Given the description of an element on the screen output the (x, y) to click on. 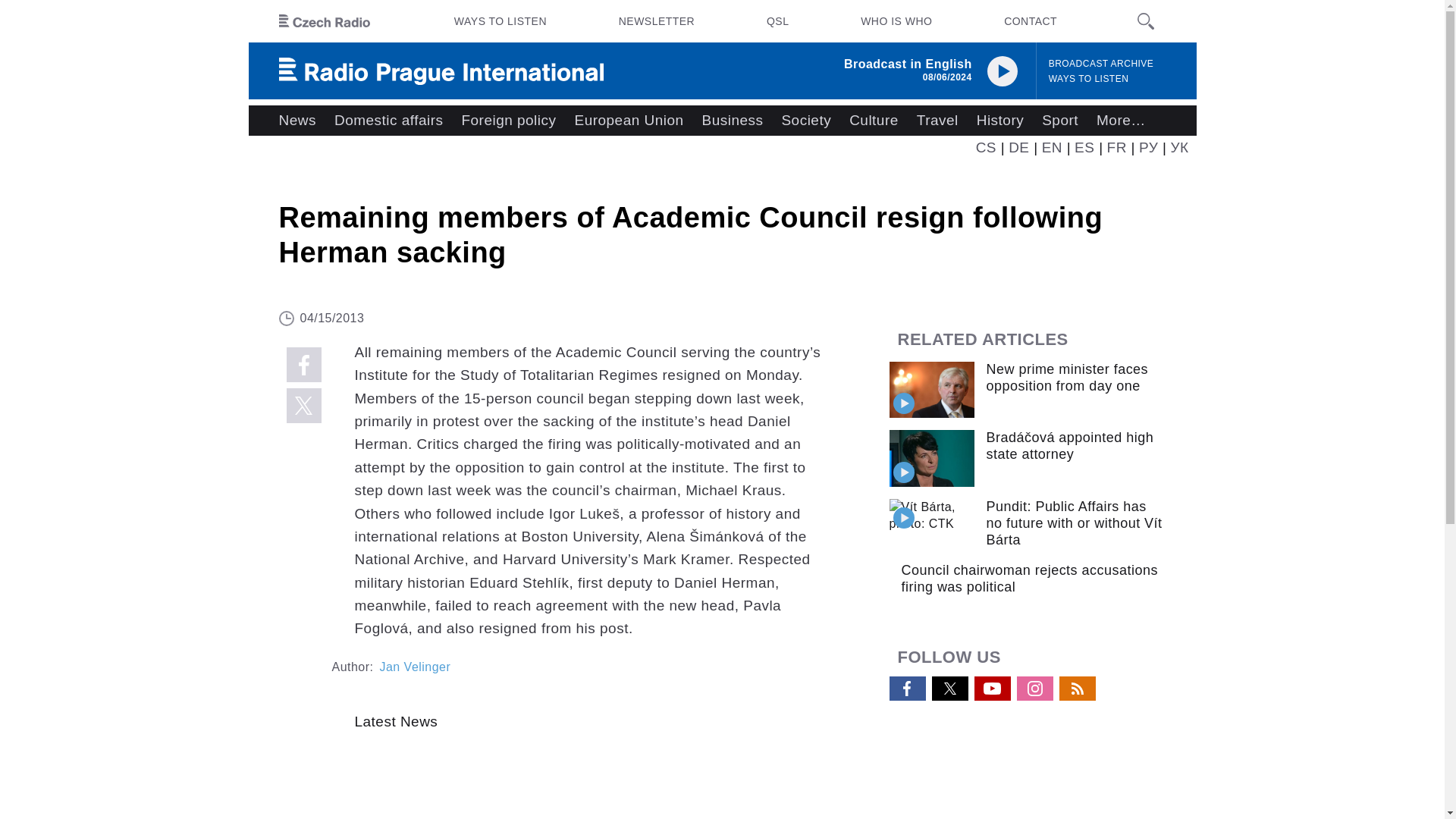
Domestic affairs (388, 120)
QSL (777, 21)
Broadcast in English  (908, 63)
FR (1116, 147)
History (1000, 120)
News (296, 120)
WAYS TO LISTEN (500, 21)
CONTACT (1029, 21)
European Union (628, 120)
DE (1019, 147)
BROADCAST ARCHIVE (1101, 63)
Czech Radio (324, 21)
ES (1084, 147)
Travel (937, 120)
